Given the description of an element on the screen output the (x, y) to click on. 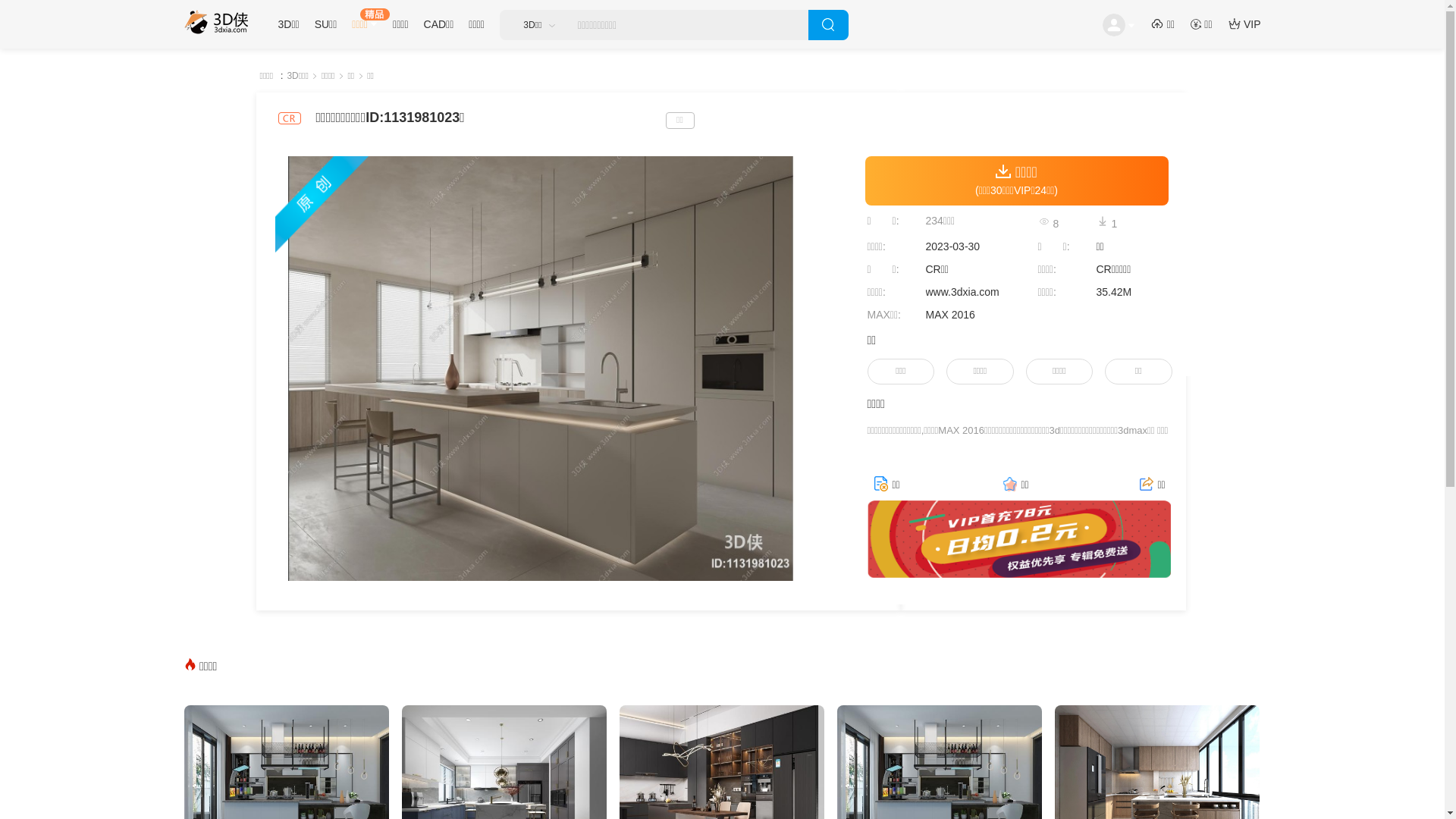
VIP Element type: text (1252, 24)
